Given the description of an element on the screen output the (x, y) to click on. 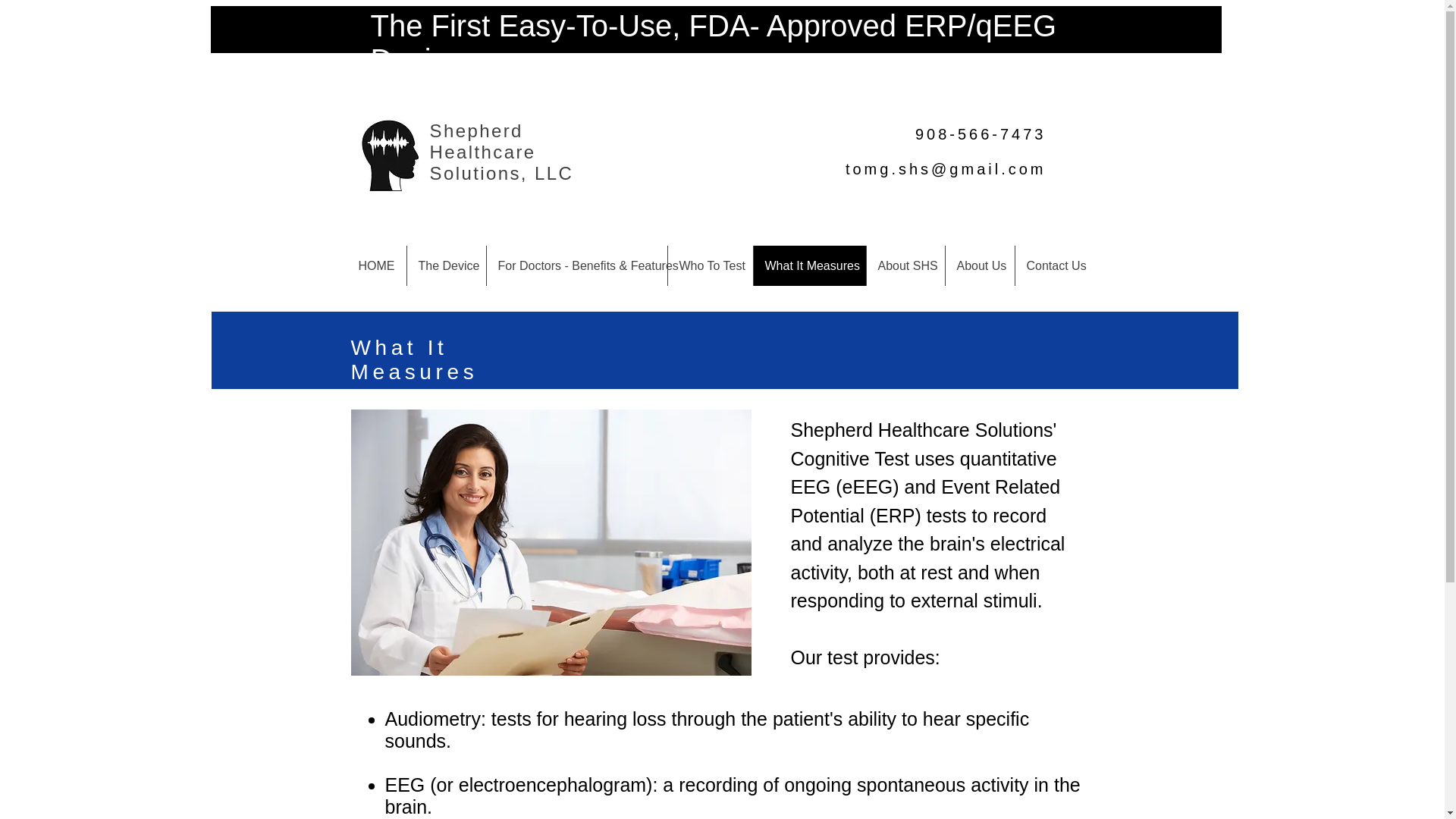
908-566-7473 (980, 134)
Shepherd (475, 130)
What It Measures (808, 265)
Solutions, LLC (501, 172)
HOME (376, 265)
Contact Us (1054, 265)
Healthcare  (485, 151)
The Device (446, 265)
About SHS (905, 265)
Who To Test (709, 265)
